Given the description of an element on the screen output the (x, y) to click on. 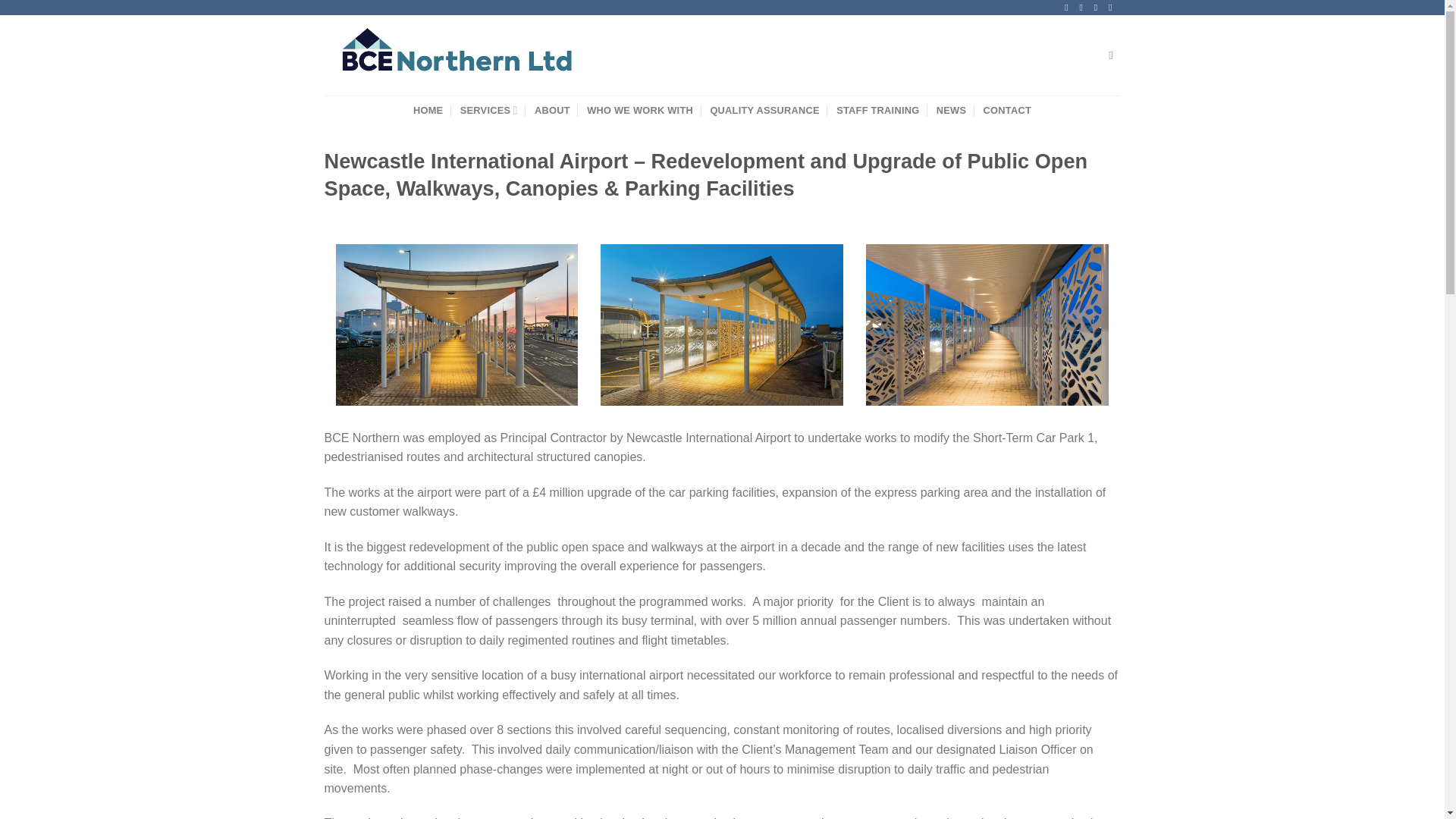
SERVICES (489, 110)
NEWS (951, 110)
HOME (427, 110)
WHO WE WORK WITH (639, 110)
STAFF TRAINING (876, 110)
CONTACT (1007, 110)
BCE Northern Ltd (457, 54)
ABOUT (552, 110)
QUALITY ASSURANCE (764, 110)
